Given the description of an element on the screen output the (x, y) to click on. 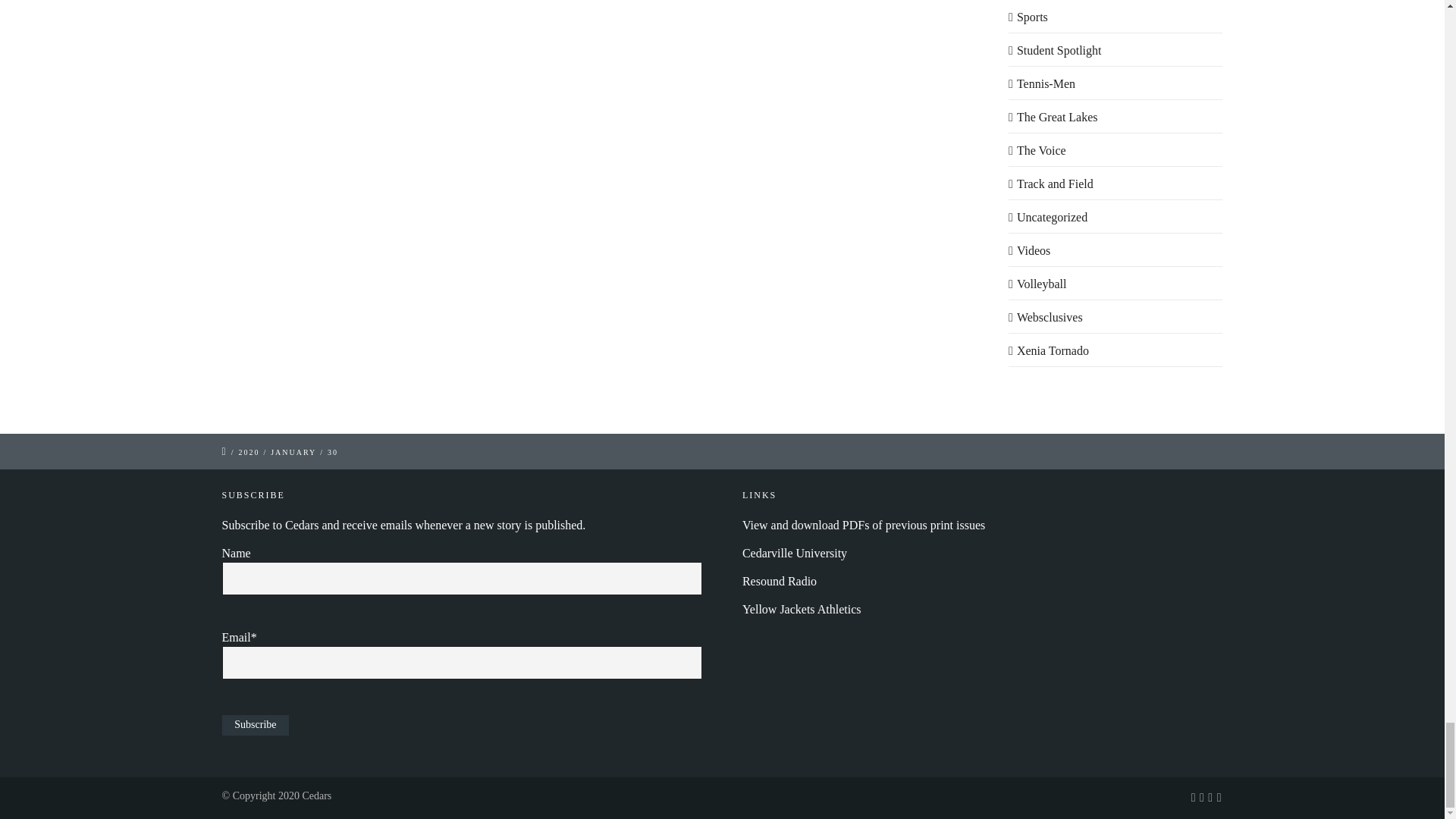
Subscribe (254, 724)
Cedarville University (794, 553)
Yellow Jackets Athletics (801, 608)
Previous issues (863, 524)
Resound Radio (779, 581)
